Given the description of an element on the screen output the (x, y) to click on. 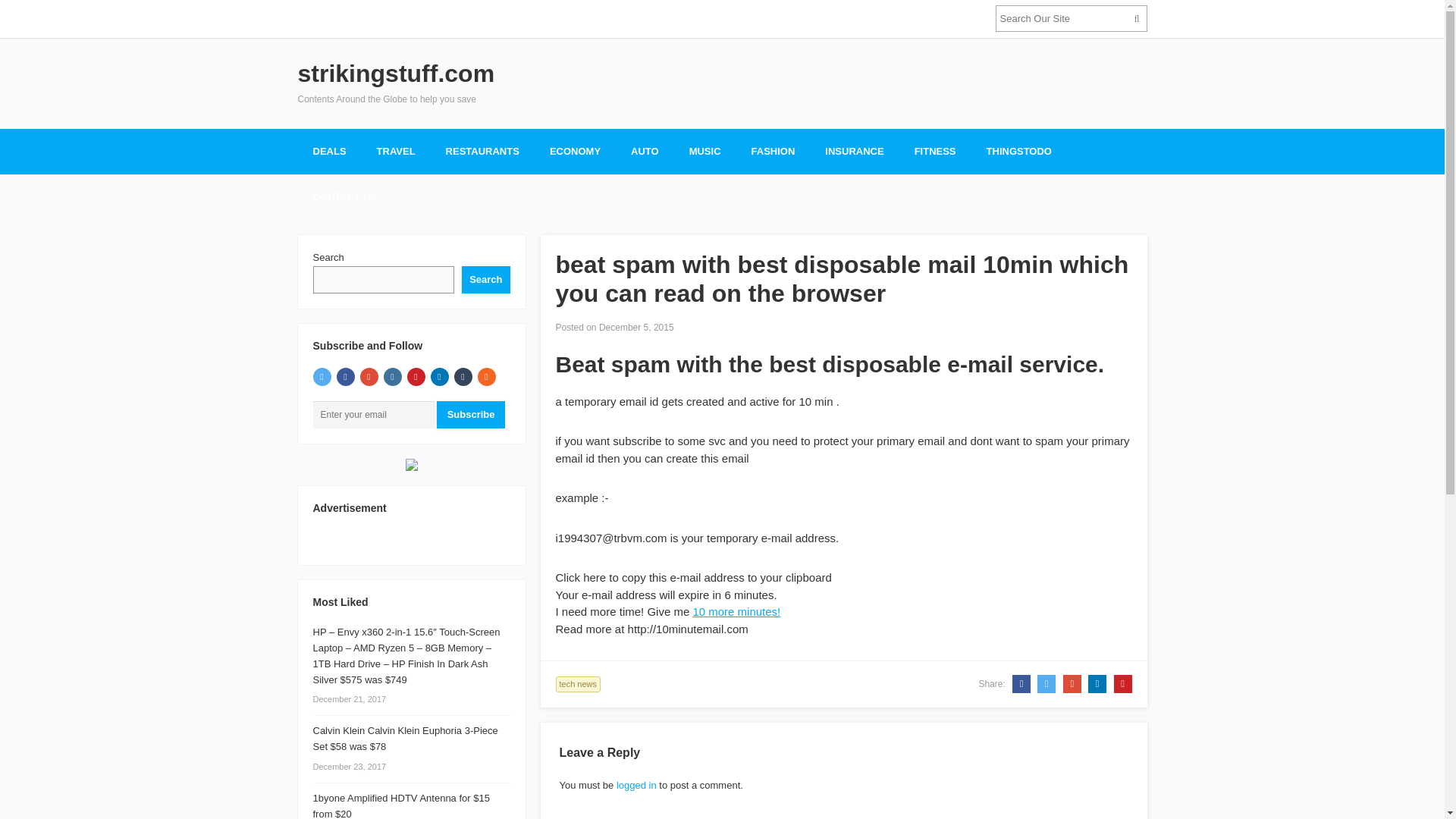
DEALS (329, 151)
MUSIC (705, 151)
ECONOMY (574, 151)
FASHION (773, 151)
RESTAURANTS (482, 151)
strikingstuff.com (396, 72)
AUTO (644, 151)
TRAVEL (395, 151)
